Given the description of an element on the screen output the (x, y) to click on. 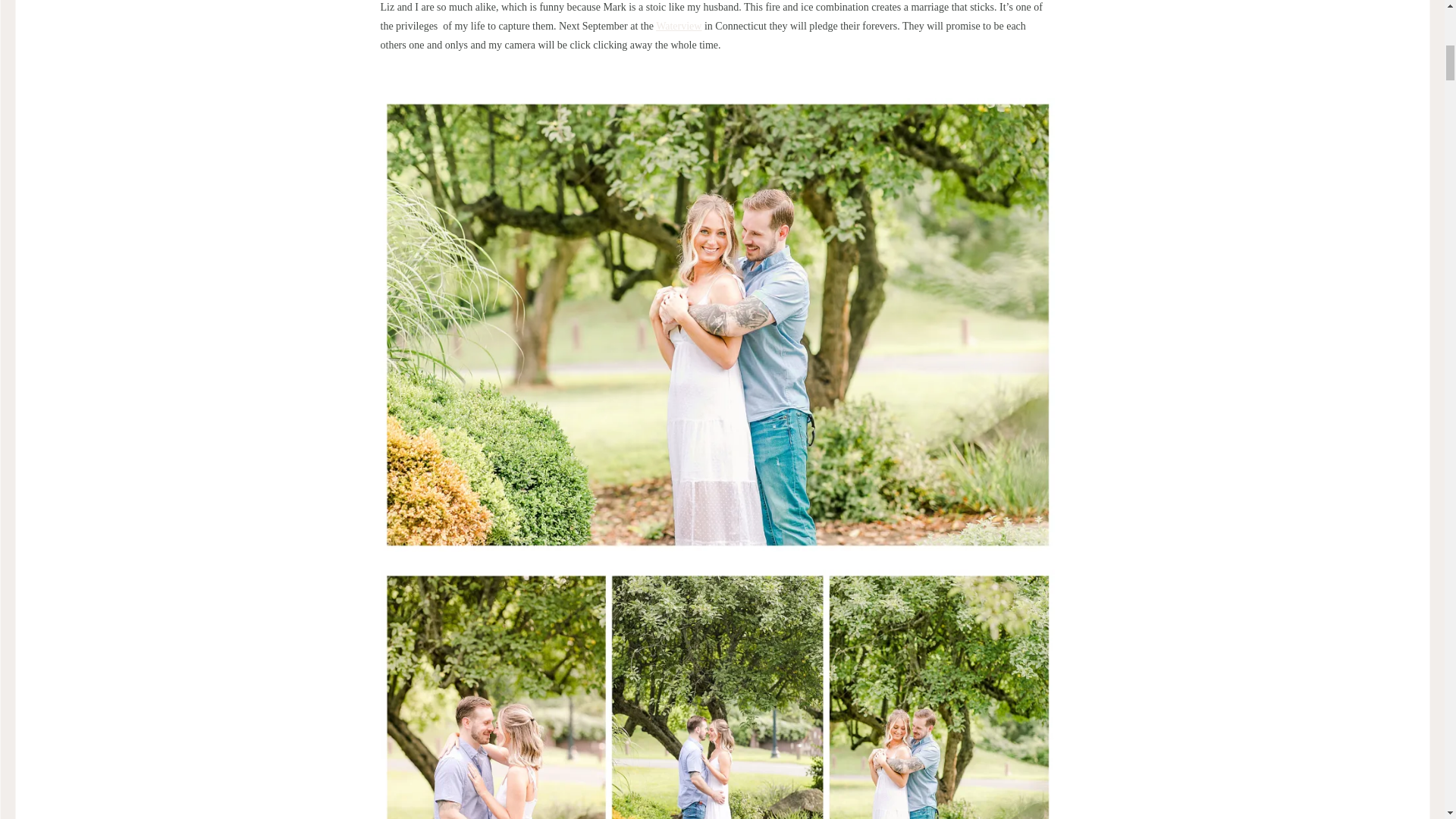
Waterview (678, 25)
